Given the description of an element on the screen output the (x, y) to click on. 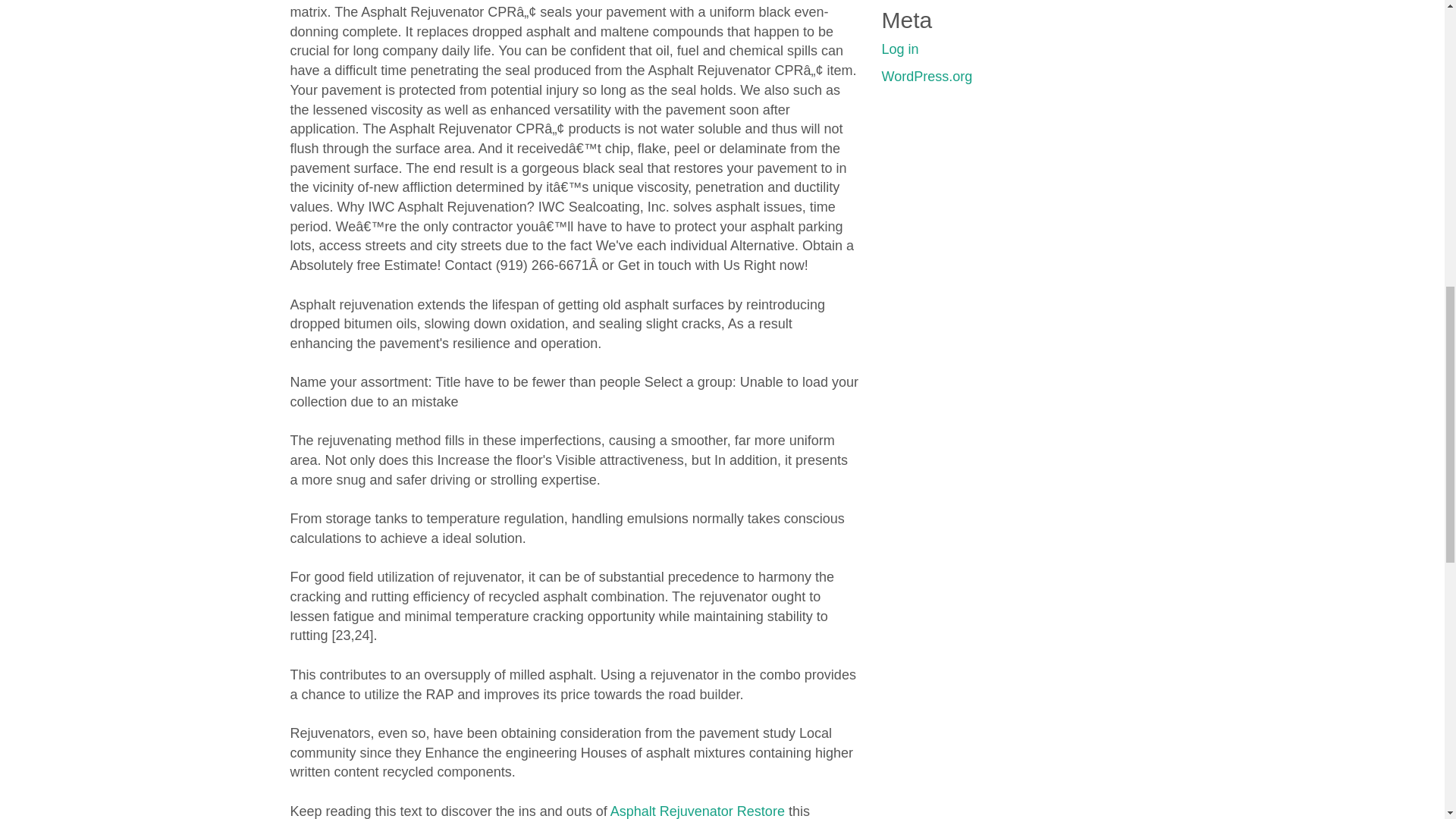
Asphalt Rejuvenator Restore (697, 811)
WordPress.org (926, 76)
Log in (899, 48)
